Given the description of an element on the screen output the (x, y) to click on. 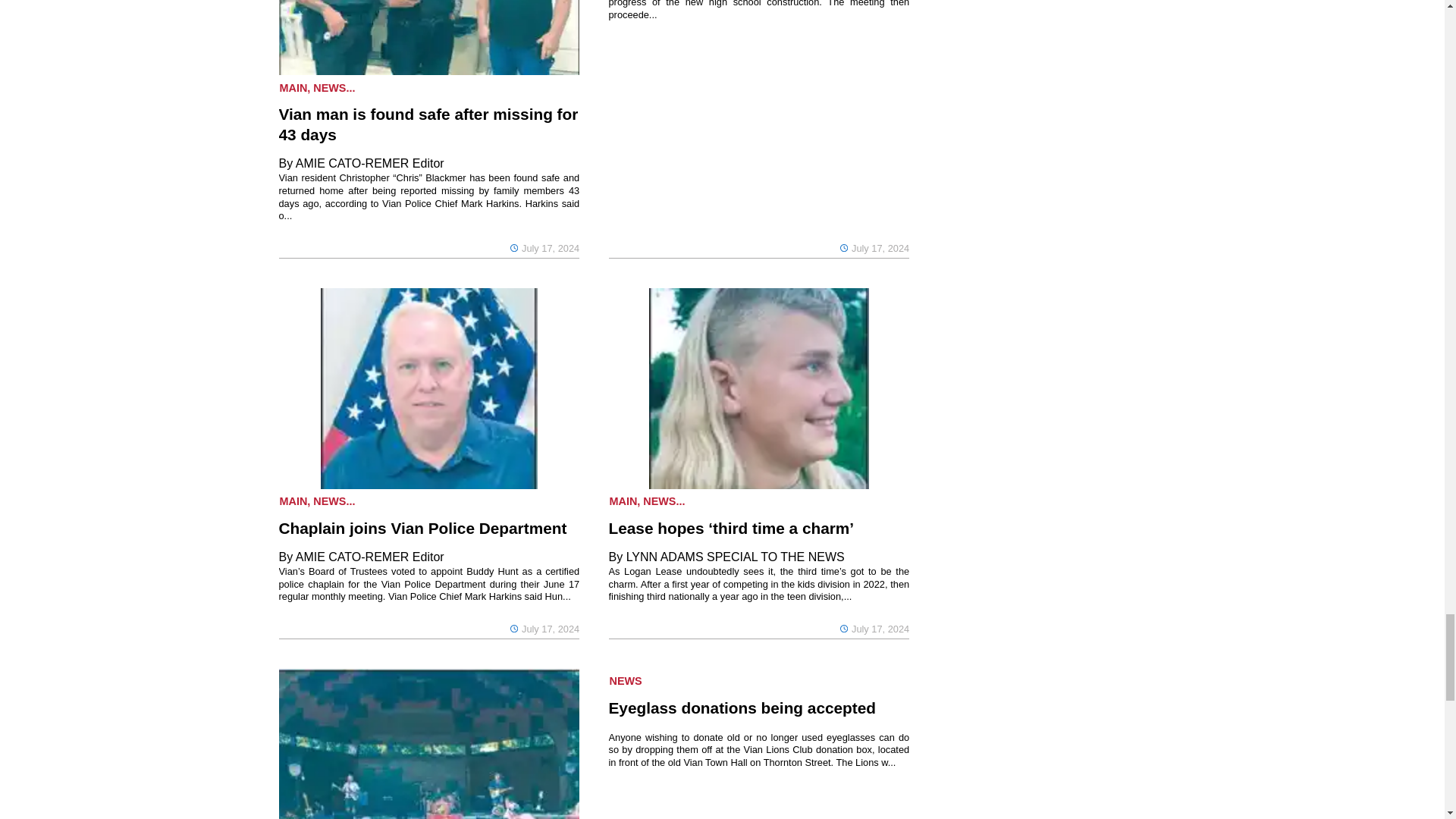
Chaplain joins Vian Police Department (429, 528)
Vian man is found safe after missing for 43 days (429, 123)
